Given the description of an element on the screen output the (x, y) to click on. 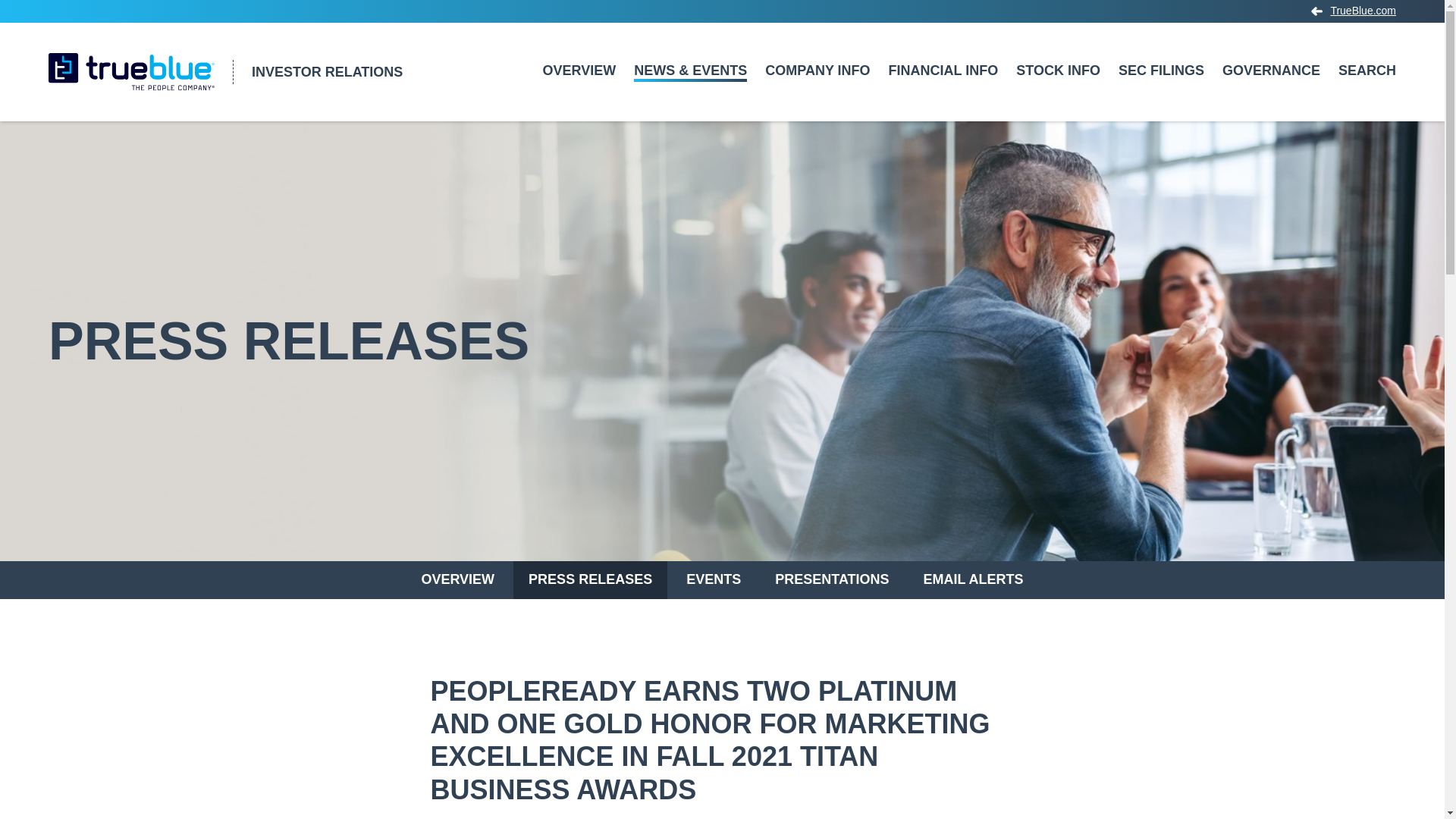
COMPANY INFO (817, 89)
GOVERNANCE (1270, 89)
TrueBlue.com (1353, 9)
SEC FILINGS (1160, 89)
OVERVIEW (580, 89)
STOCK INFO (1058, 89)
Opens in a new window (1353, 9)
FINANCIAL INFO (943, 89)
